Given the description of an element on the screen output the (x, y) to click on. 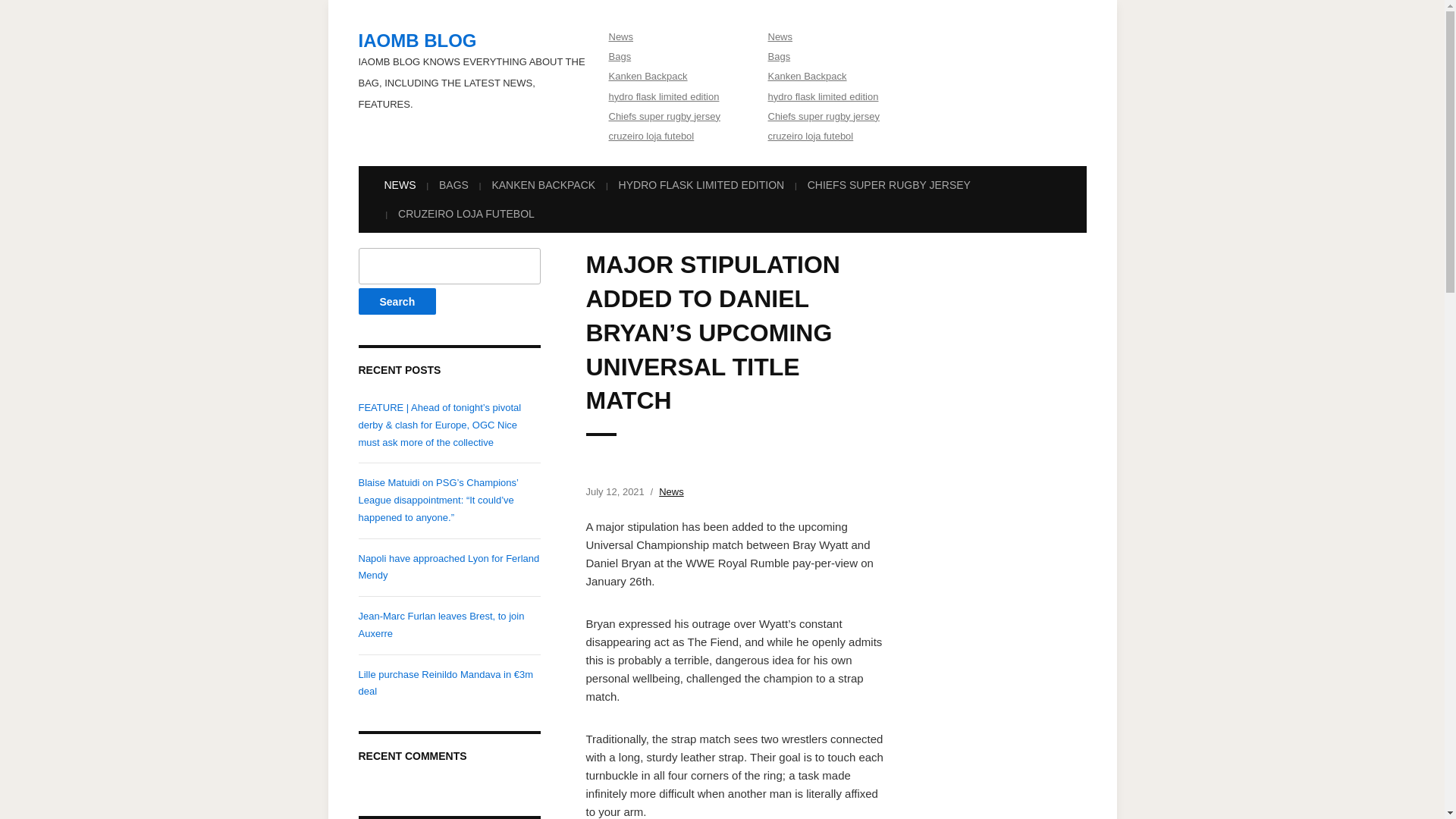
Kanken Backpack (806, 75)
IAOMB BLOG (417, 40)
CRUZEIRO LOJA FUTEBOL (465, 213)
Jean-Marc Furlan leaves Brest, to join Auxerre (441, 624)
cruzeiro loja futebol (810, 135)
hydro flask limited edition (822, 96)
CHIEFS SUPER RUGBY JERSEY (889, 184)
News (620, 36)
Kanken Backpack (647, 75)
NEWS (399, 184)
hydro flask limited edition (663, 96)
Search (396, 301)
HYDRO FLASK LIMITED EDITION (701, 184)
Bags (619, 56)
KANKEN BACKPACK (542, 184)
